Given the description of an element on the screen output the (x, y) to click on. 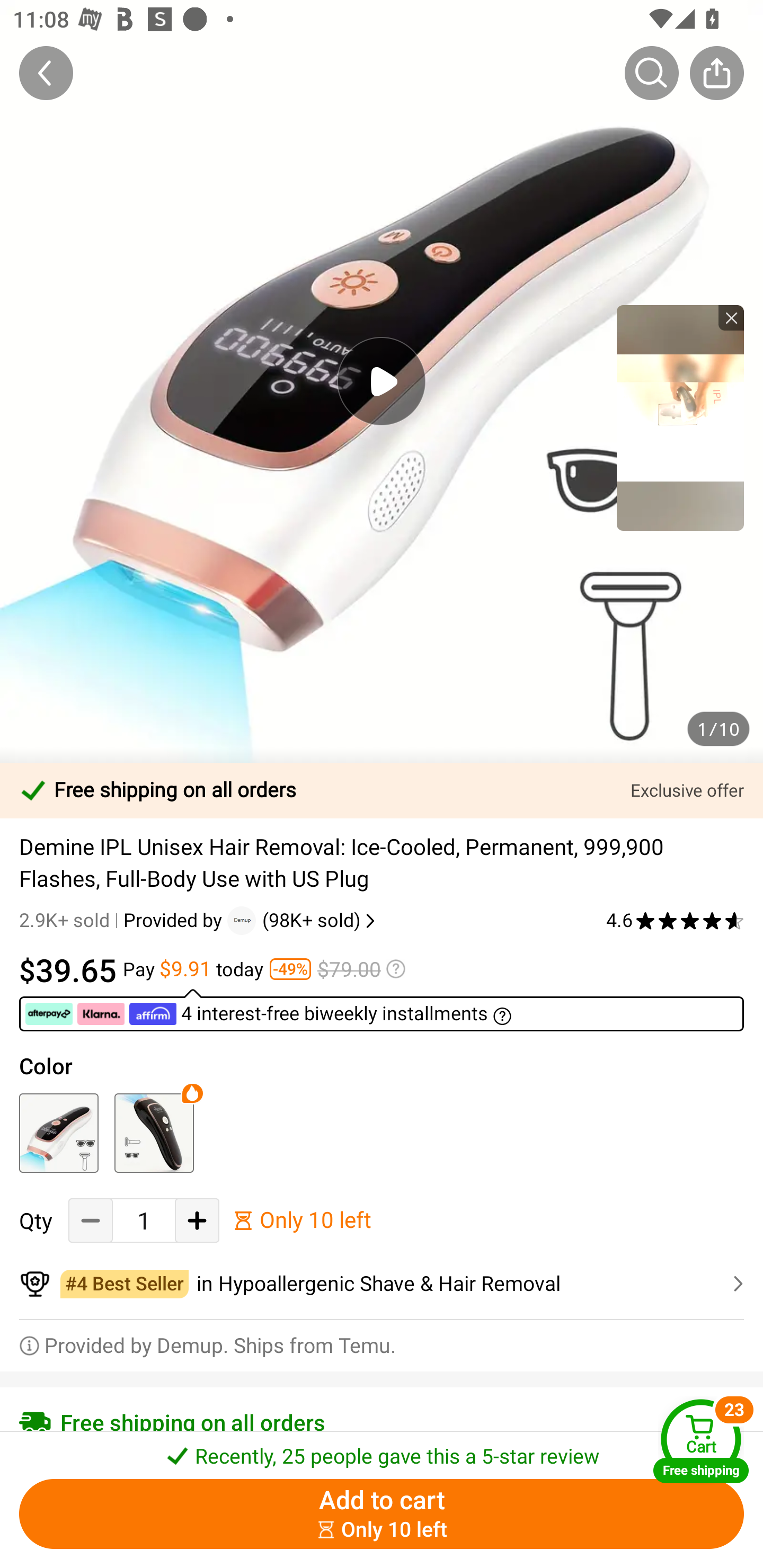
Back (46, 72)
Share (716, 72)
tronplayer_view (680, 417)
Free shipping on all orders Exclusive offer (381, 790)
2.9K+ sold Provided by  (123, 920)
4.6 (674, 920)
￼ ￼ ￼ 4 interest-free biweekly installments ￼ (381, 1009)
White (58, 1132)
Black   (153, 1132)
Decrease Quantity Button (90, 1220)
1 (143, 1220)
Add Quantity button (196, 1220)
￼￼in Hypoallergenic Shave & Hair Removal (381, 1283)
Cart Free shipping Cart (701, 1440)
￼￼Recently, 25 people gave this a 5-star review (381, 1450)
Add to cart ￼￼Only 10 left (381, 1513)
